Given the description of an element on the screen output the (x, y) to click on. 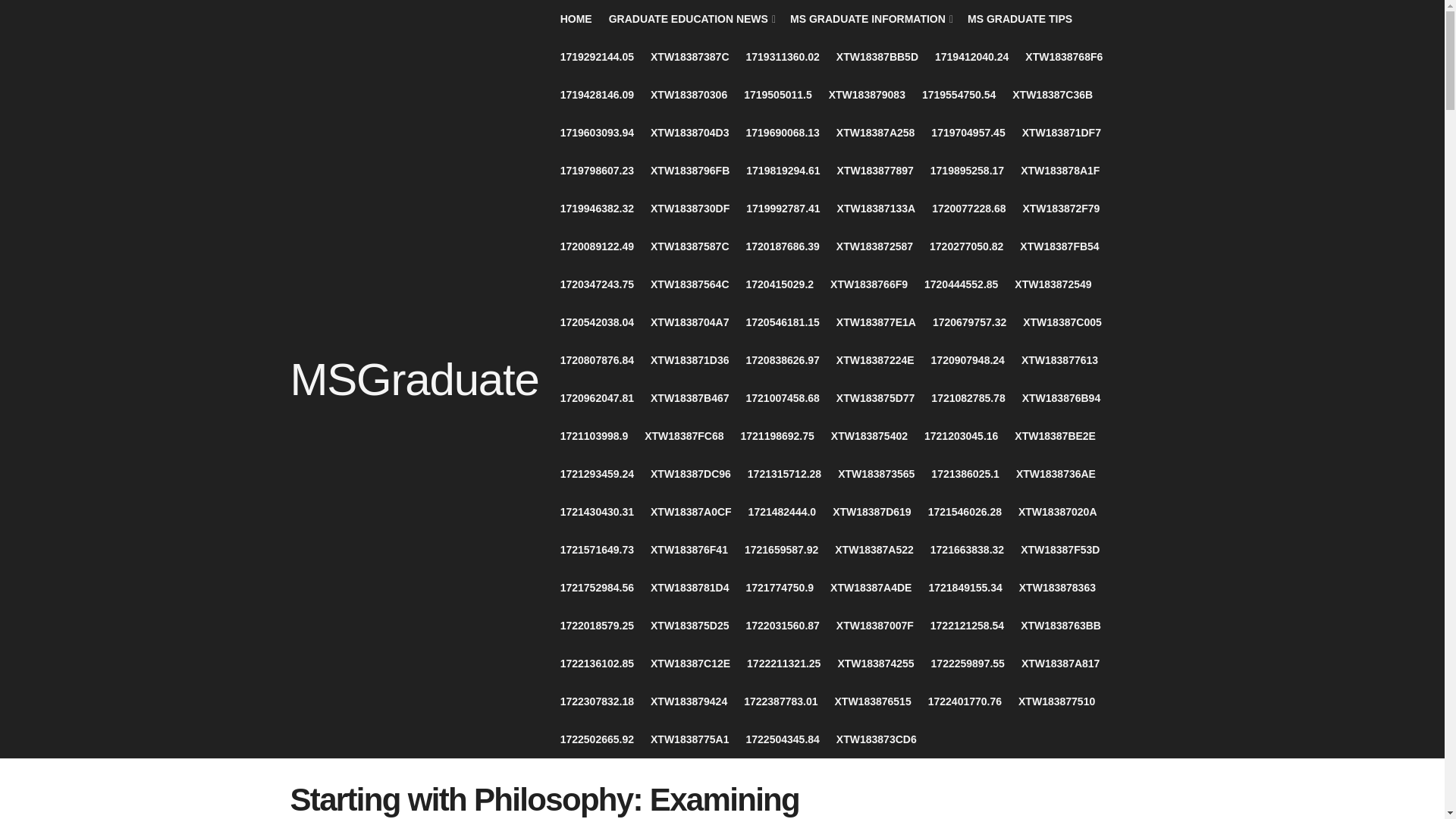
1719554750.54 (958, 94)
XTW18387133A (876, 208)
1719412040.24 (971, 56)
1720077228.68 (968, 208)
1720187686.39 (782, 246)
XTW18387587C (689, 246)
1719992787.41 (782, 208)
XTW1838768F6 (1063, 56)
XTW183877897 (875, 170)
XTW183878A1F (1059, 170)
